Given the description of an element on the screen output the (x, y) to click on. 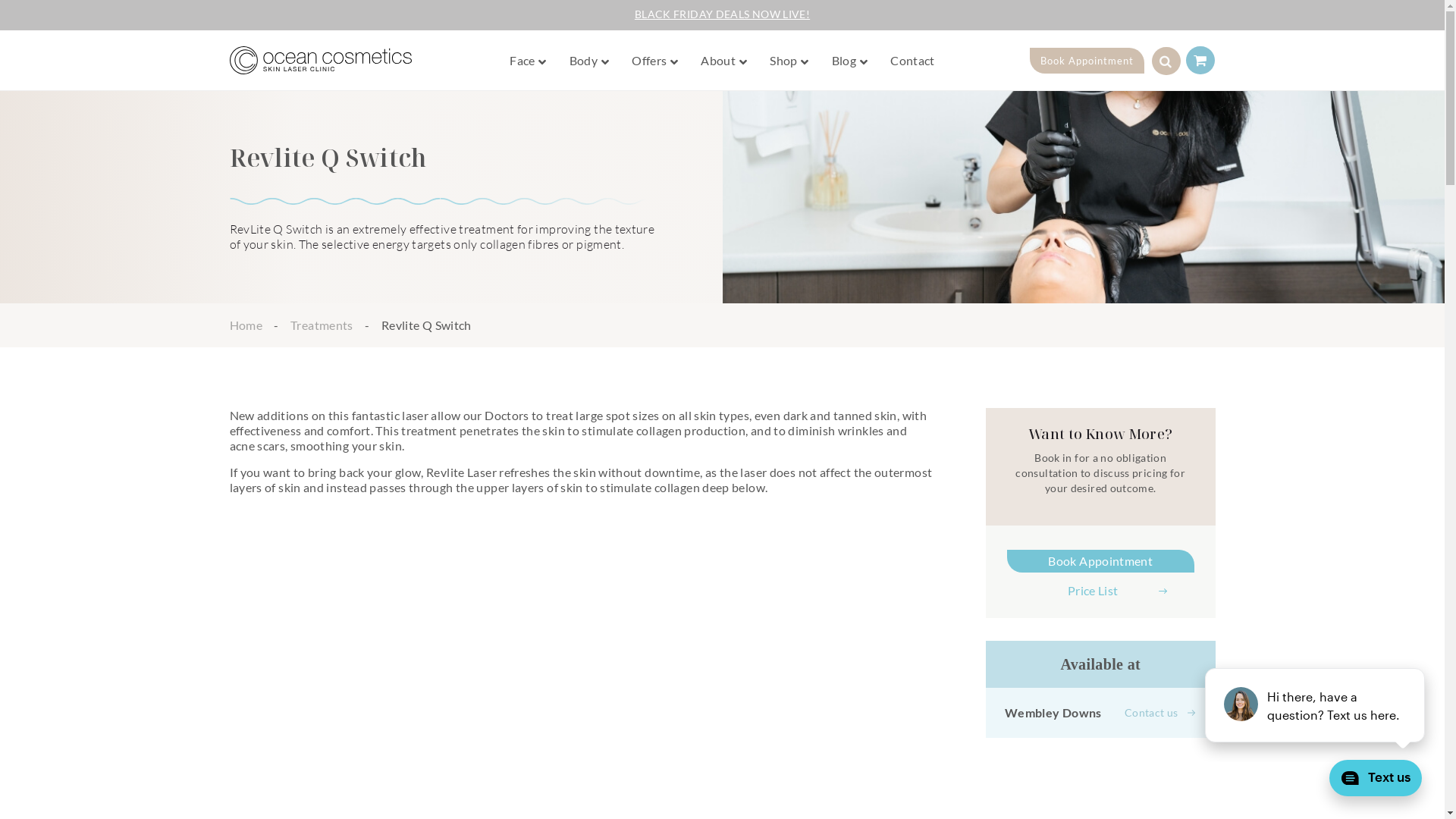
Contact us Element type: text (1160, 712)
Blog Element type: text (845, 60)
BLACK FRIDAY DEALS NOW LIVE! Element type: text (721, 13)
podium webchat widget prompt Element type: hover (1315, 705)
Face Element type: text (523, 60)
Book Appointment Element type: text (1100, 560)
Book Appointment Element type: text (1086, 60)
Treatments Element type: text (321, 324)
About Element type: text (719, 60)
Body Element type: text (585, 60)
Contact Element type: text (912, 60)
Offers Element type: text (650, 60)
Price List Element type: text (1100, 590)
Shop Element type: text (784, 60)
Home Element type: text (245, 324)
